Given the description of an element on the screen output the (x, y) to click on. 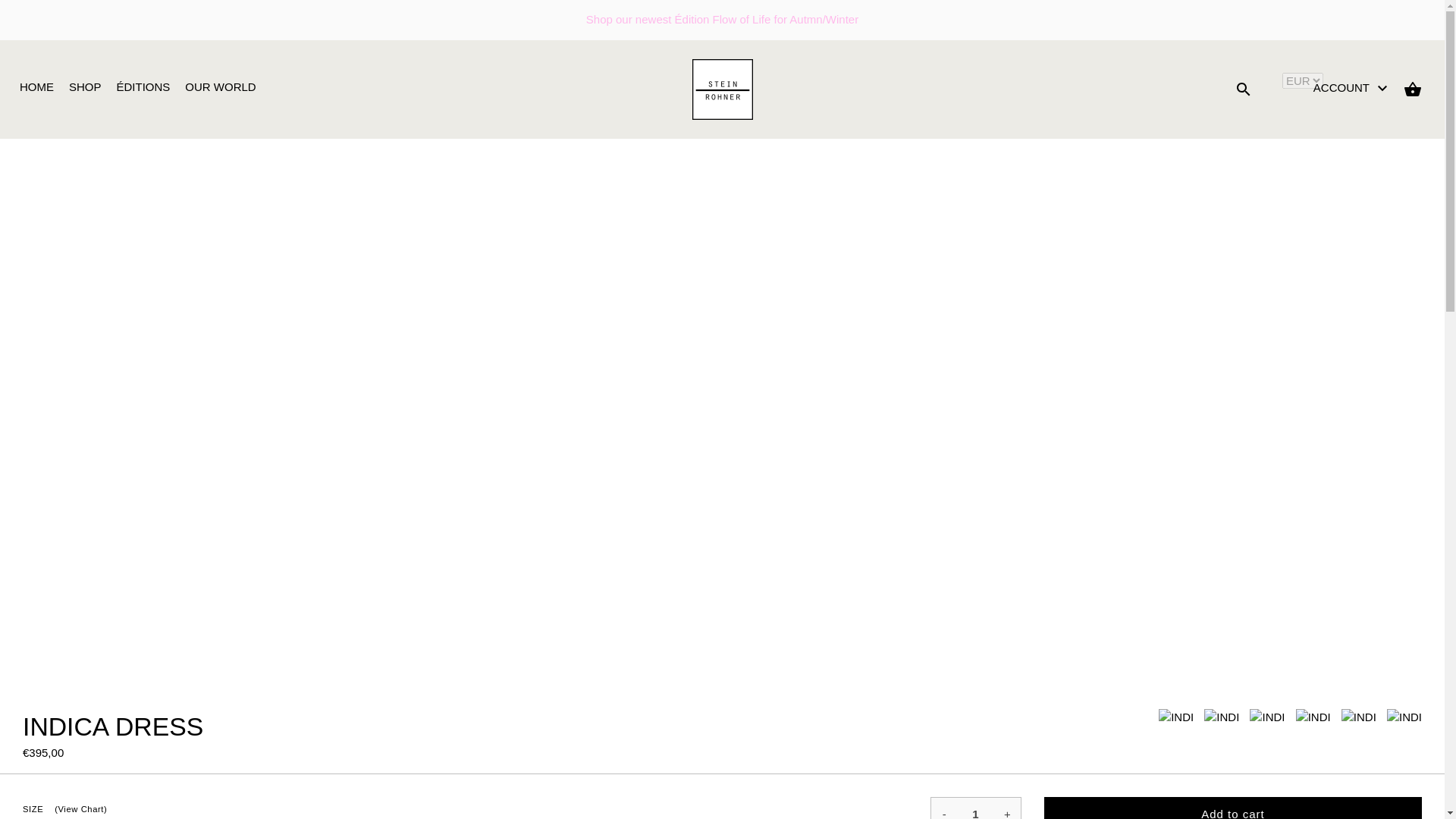
1 (975, 808)
SEARCH (1243, 89)
Cart (1412, 89)
OUR WORLD (220, 87)
SEARCH (1243, 89)
HOME (36, 87)
SHOP (84, 87)
